Given the description of an element on the screen output the (x, y) to click on. 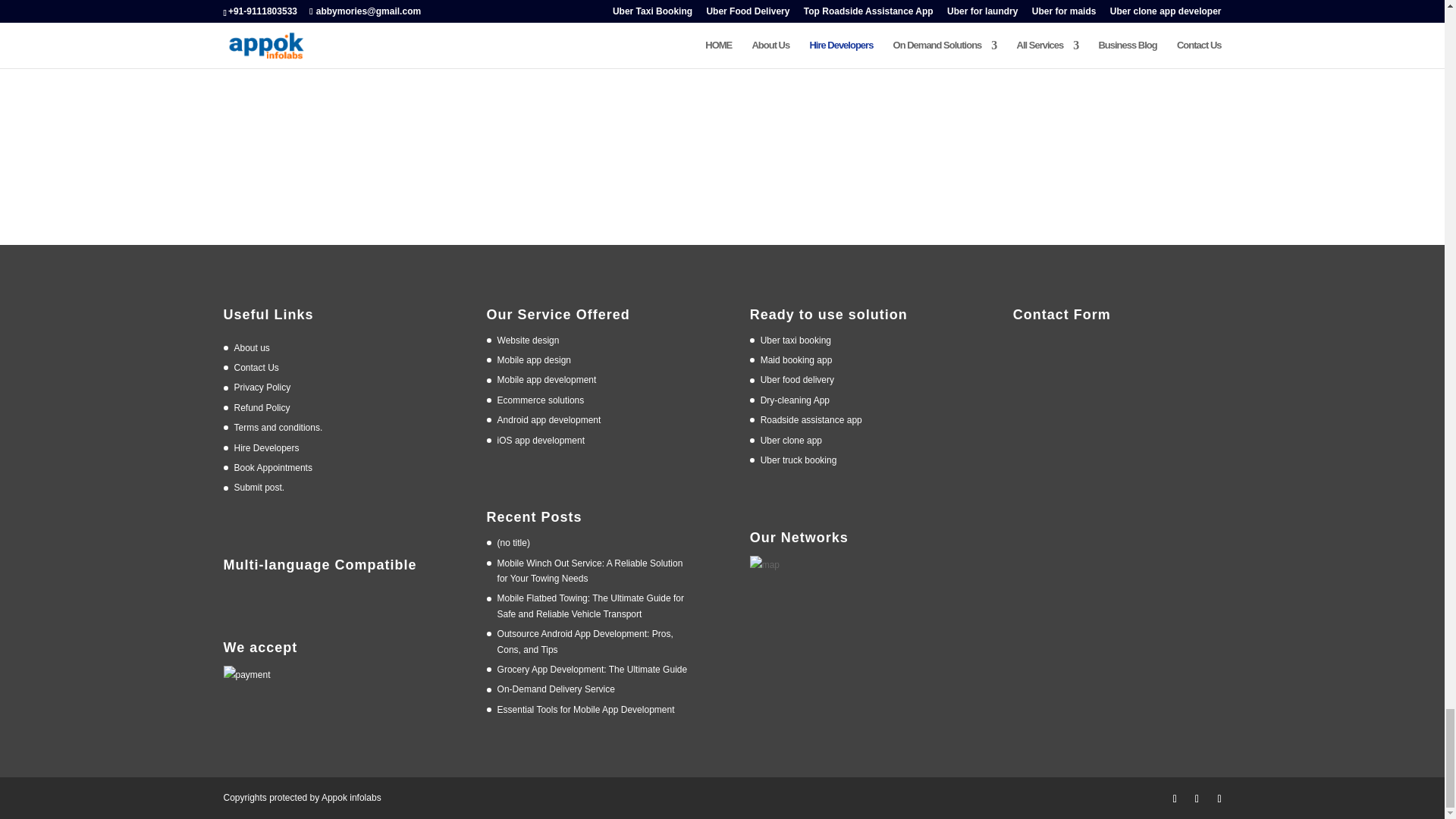
Our Networks (763, 565)
We accepts (245, 675)
